Given the description of an element on the screen output the (x, y) to click on. 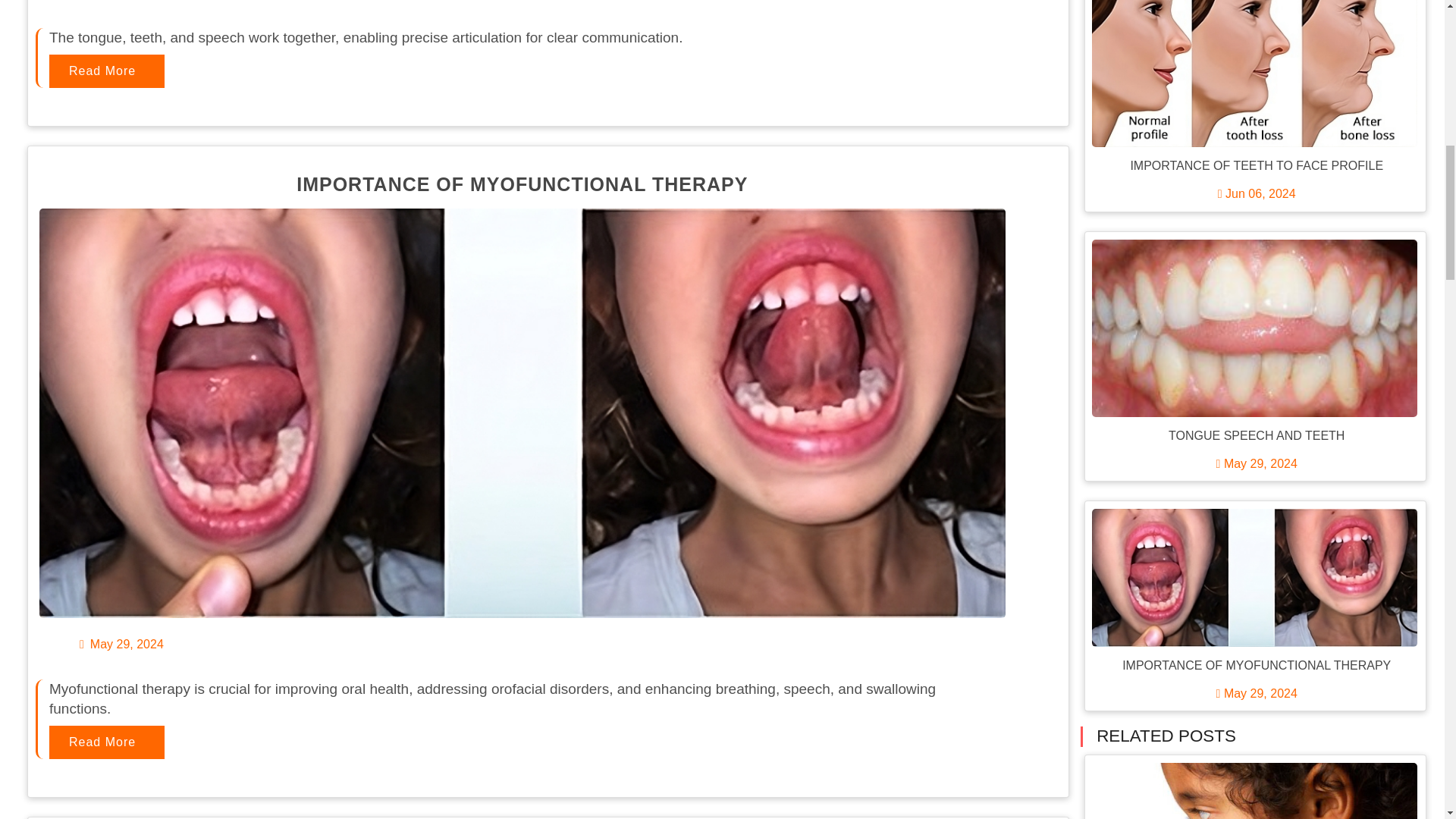
May 29, 2024 (121, 644)
Read More (106, 70)
Read More (106, 742)
IMPORTANCE OF MYOFUNCTIONAL THERAPY (522, 183)
